Given the description of an element on the screen output the (x, y) to click on. 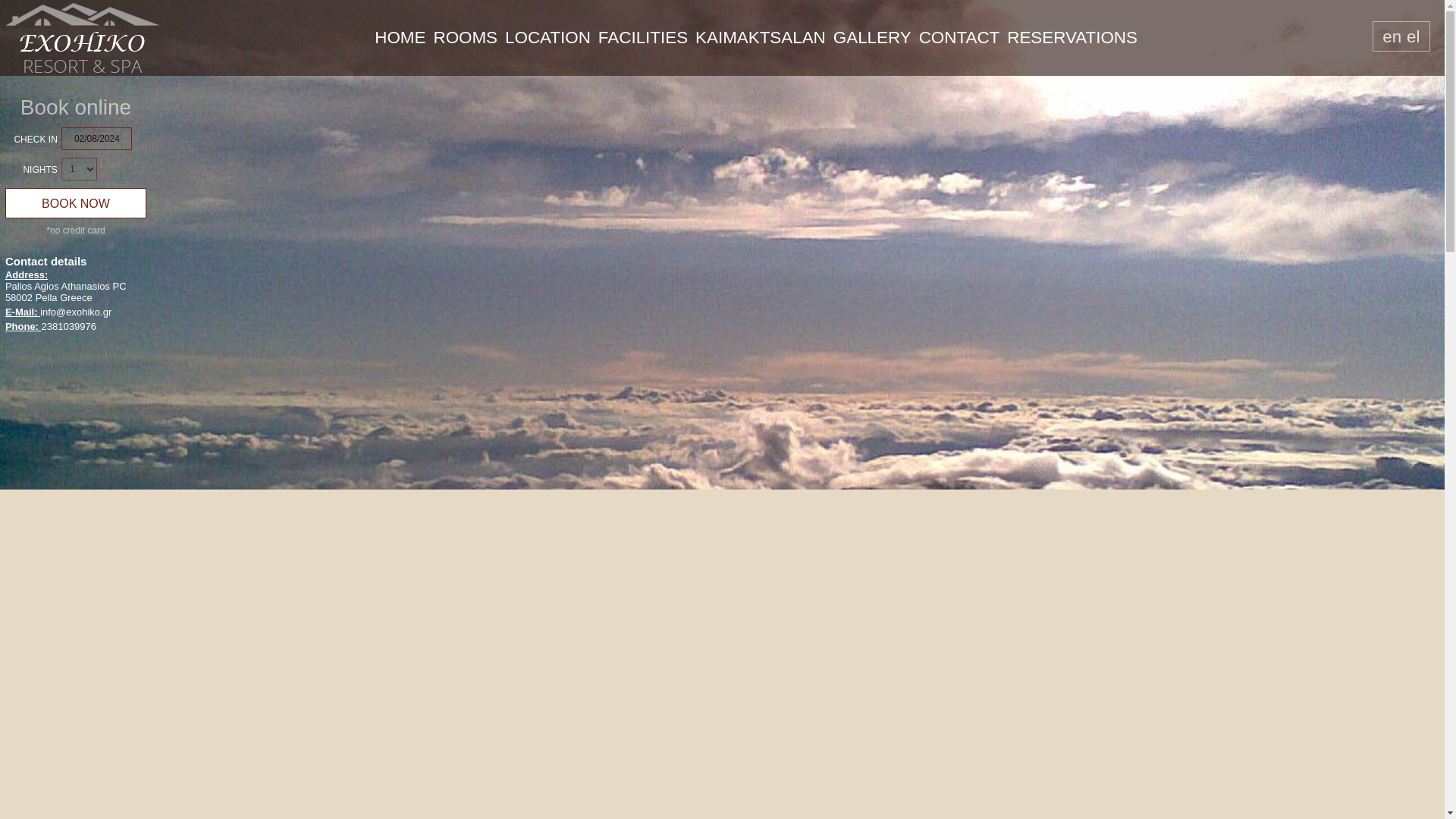
LOCATION (548, 38)
FACILITIES (642, 38)
Kaimaktsalan (108, 38)
KAIMAKTSALAN (760, 38)
BOOK NOW (76, 203)
